Given the description of an element on the screen output the (x, y) to click on. 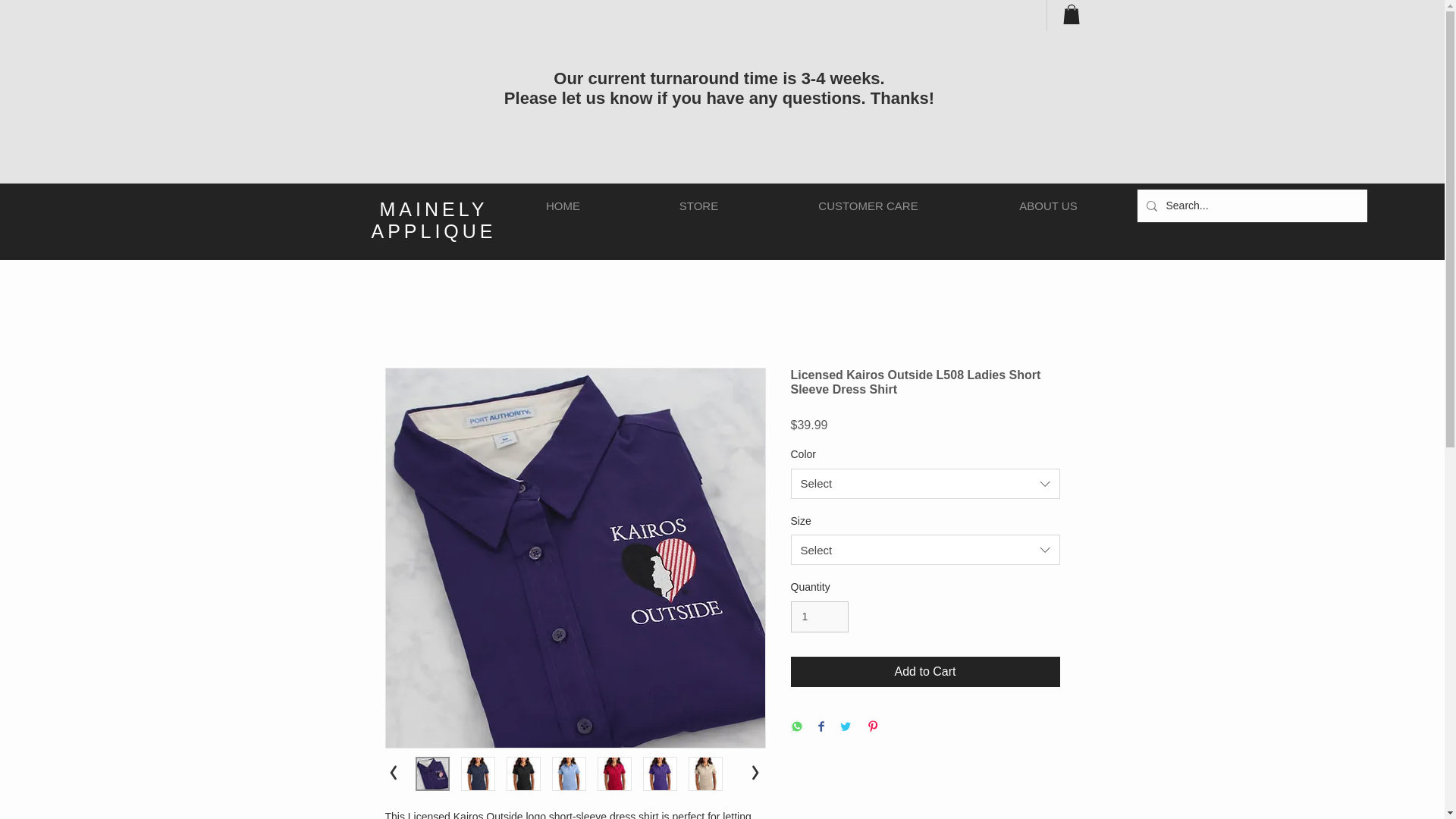
ABOUT US (1048, 205)
MAINELY APPLIQUE (433, 220)
CUSTOMER CARE (867, 205)
Add to Cart (924, 671)
1 (818, 616)
Select (924, 549)
Select (924, 483)
HOME (562, 205)
